Given the description of an element on the screen output the (x, y) to click on. 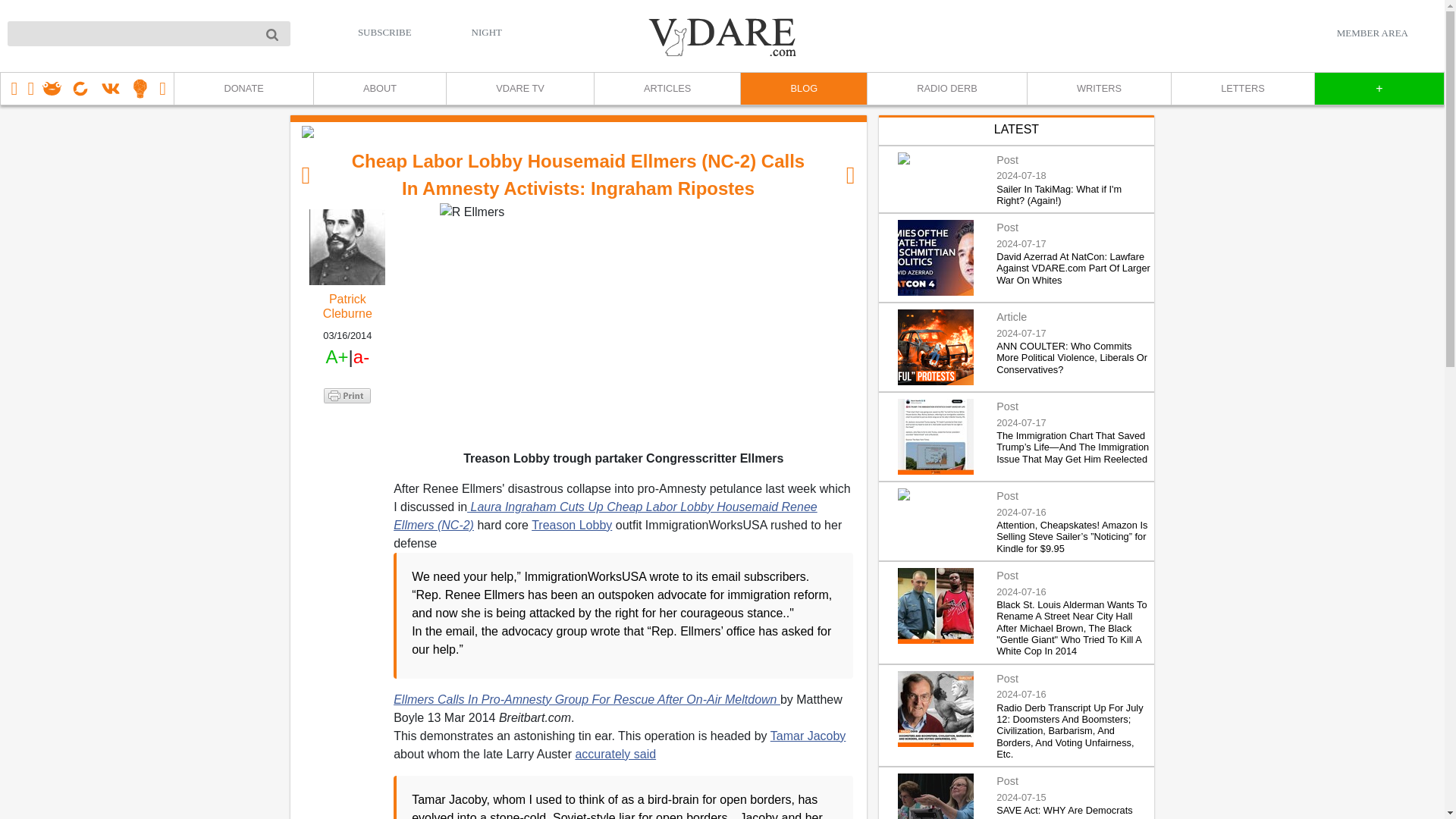
R Ellmers (623, 325)
Share to Email (347, 481)
MEMBER AREA (1371, 32)
VDARE TV (519, 88)
WRITERS (1098, 88)
Printer Friendly and PDF (347, 394)
RADIO DERB (946, 88)
SUBSCRIBE (385, 31)
Share to Twitter (347, 435)
BLOG (802, 88)
LETTERS (1242, 88)
ARTICLES (666, 88)
DONATE (243, 88)
ABOUT (379, 88)
